Given the description of an element on the screen output the (x, y) to click on. 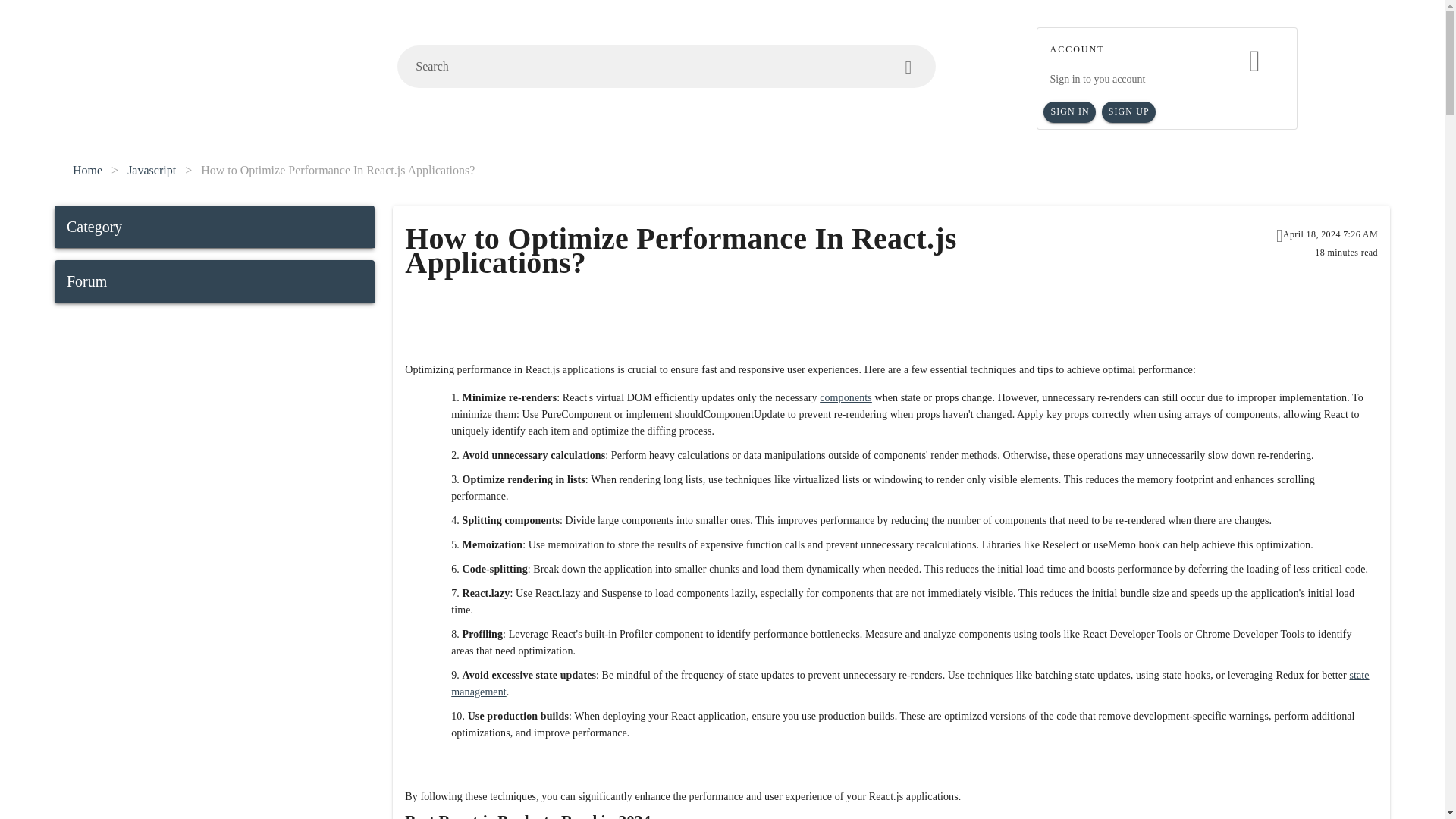
state management (909, 683)
SIGN IN (1068, 111)
Home (86, 170)
How to Optimize Performance In React.js Applications? (337, 170)
SIGN UP (1129, 111)
Javascript (152, 170)
components (845, 397)
